Given the description of an element on the screen output the (x, y) to click on. 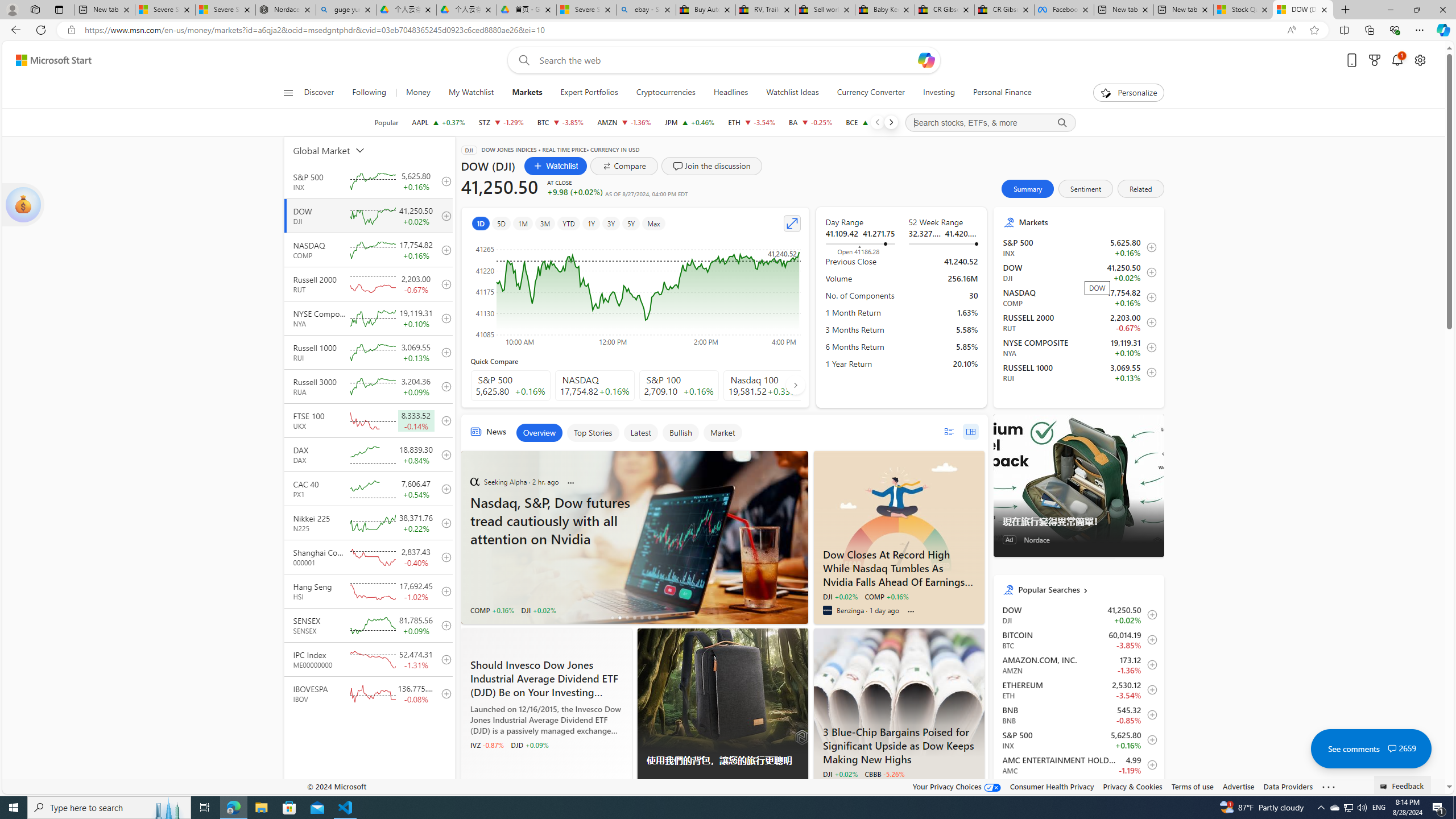
Related (1140, 188)
Personal Finance (1002, 92)
DJI +0.02% (839, 773)
Global Market (341, 150)
My Watchlist (471, 92)
Popular Searches (1085, 589)
Investing (937, 92)
1Y (590, 223)
COMP NASDAQ increase 17,754.82 +29.06 +0.16% itemundefined (1078, 297)
BTC Bitcoin decrease 60,014.19 -2,311.75 -3.85% (560, 122)
